Given the description of an element on the screen output the (x, y) to click on. 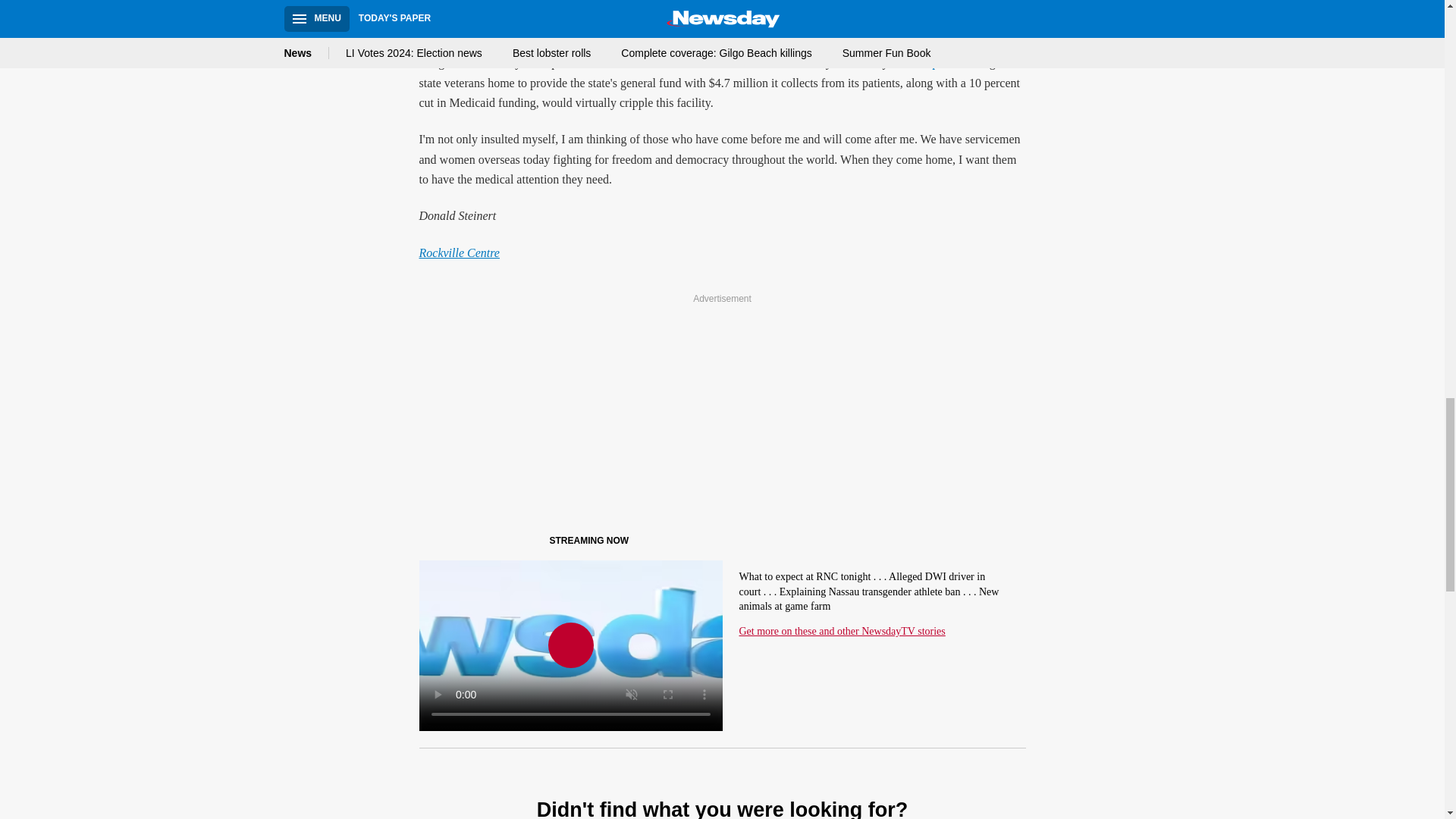
Play Video (569, 645)
